Given the description of an element on the screen output the (x, y) to click on. 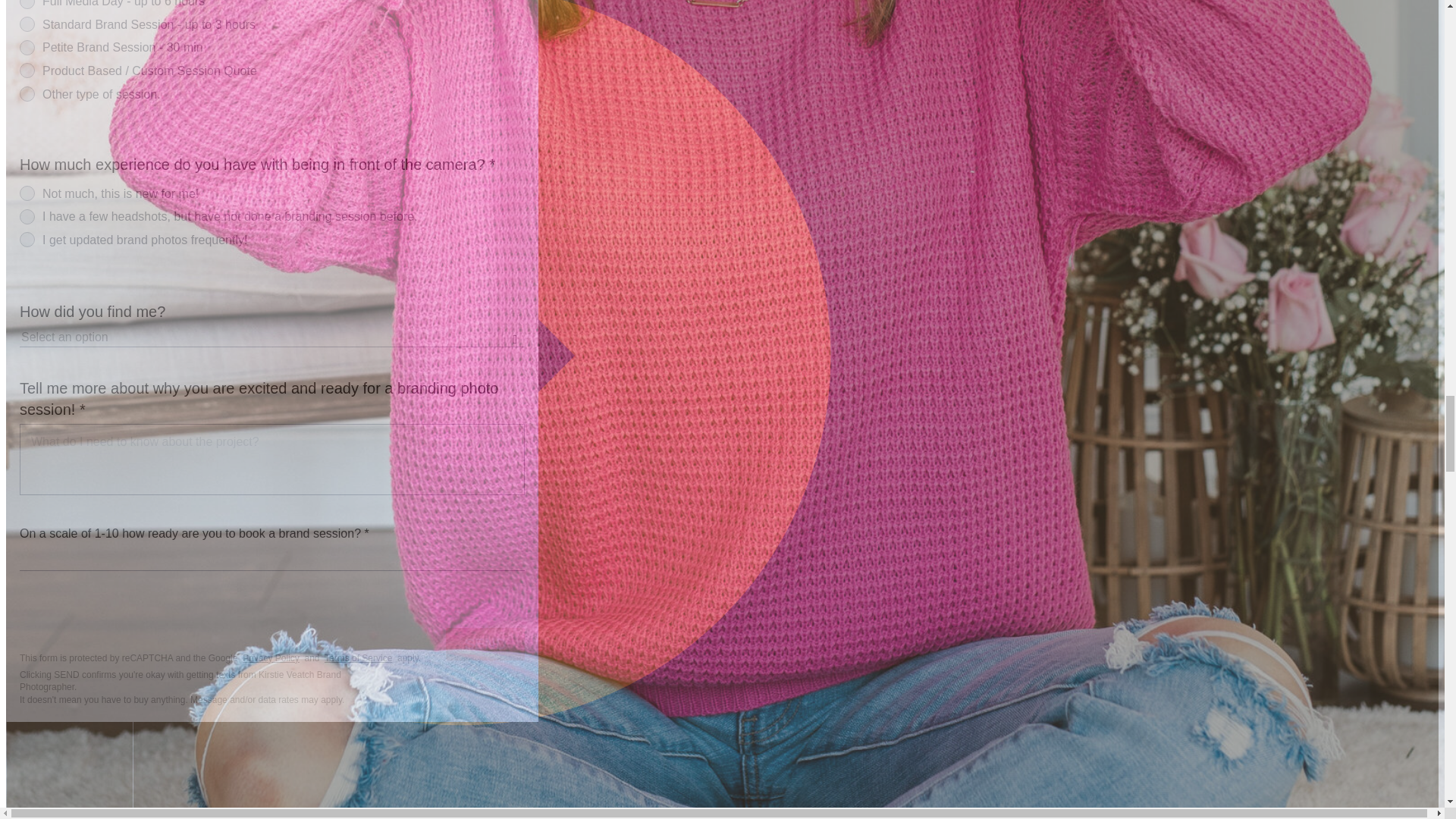
Tease Salon (122, 513)
